Given the description of an element on the screen output the (x, y) to click on. 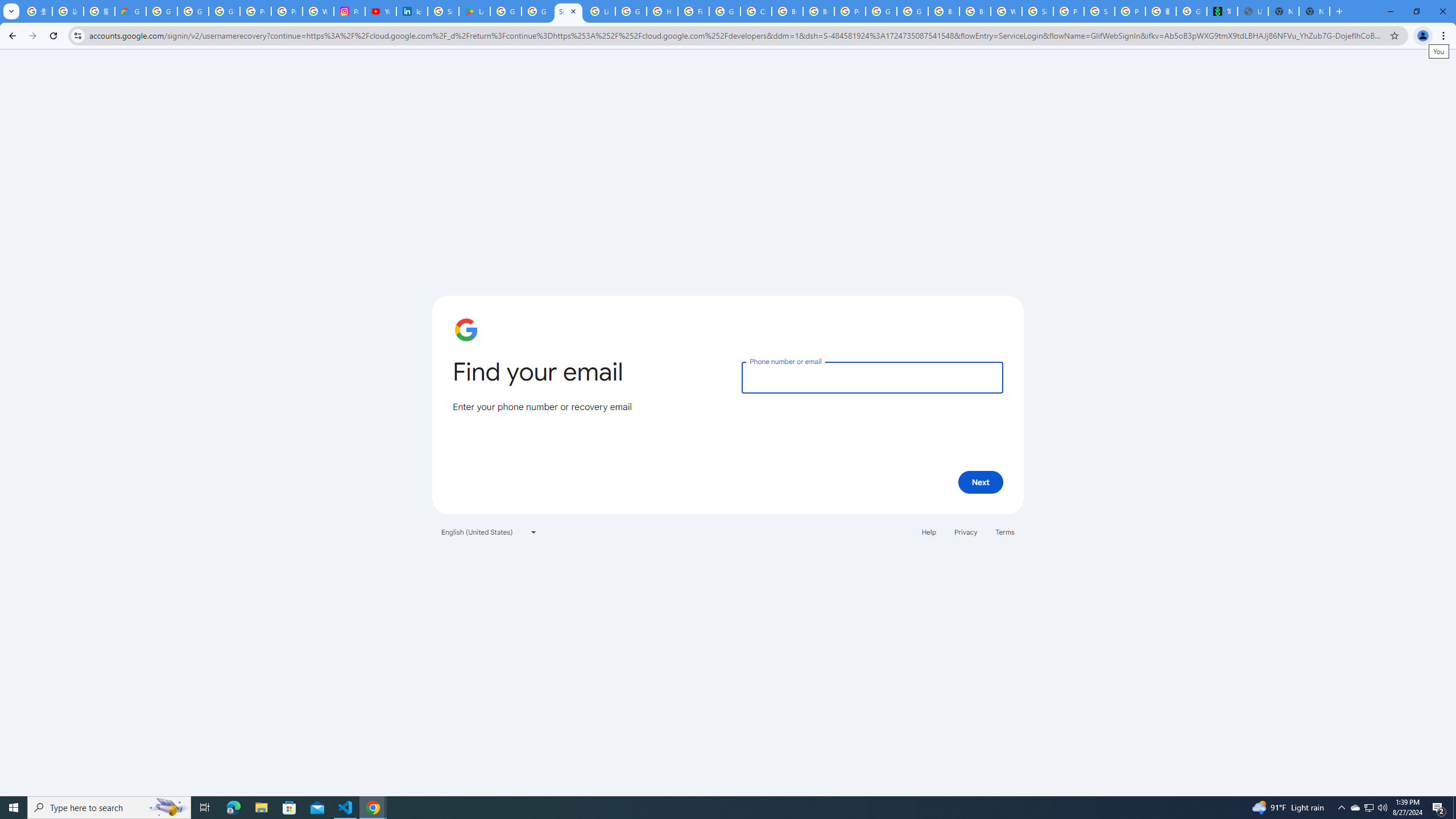
Browse Chrome as a guest - Computer - Google Chrome Help (818, 11)
Google Cloud Platform (912, 11)
Bookmark this tab (1393, 35)
Google Workspace - Specific Terms (536, 11)
Close (572, 11)
Back (10, 35)
Address and search bar (735, 35)
